Given the description of an element on the screen output the (x, y) to click on. 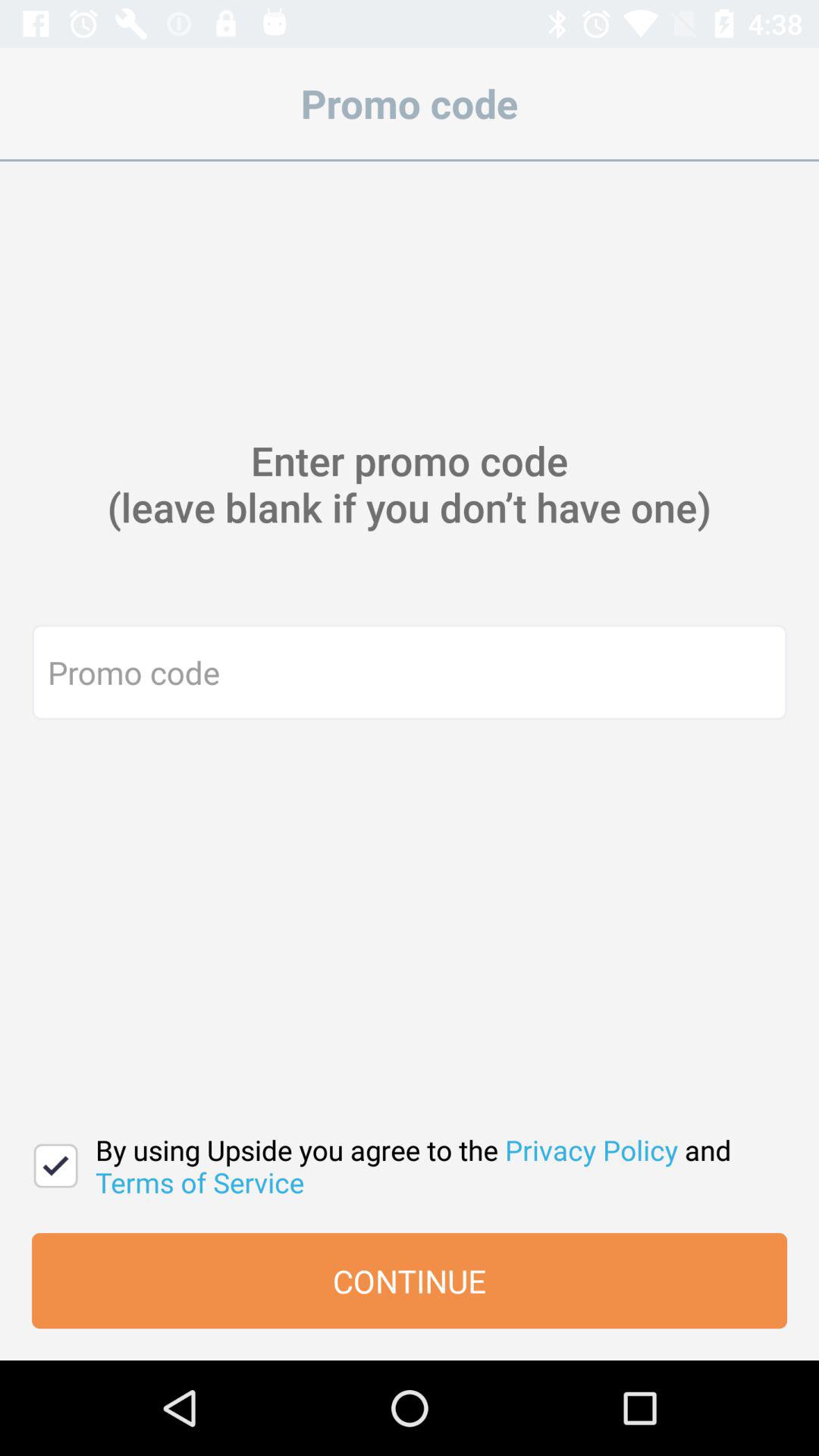
enter promo code (409, 672)
